Given the description of an element on the screen output the (x, y) to click on. 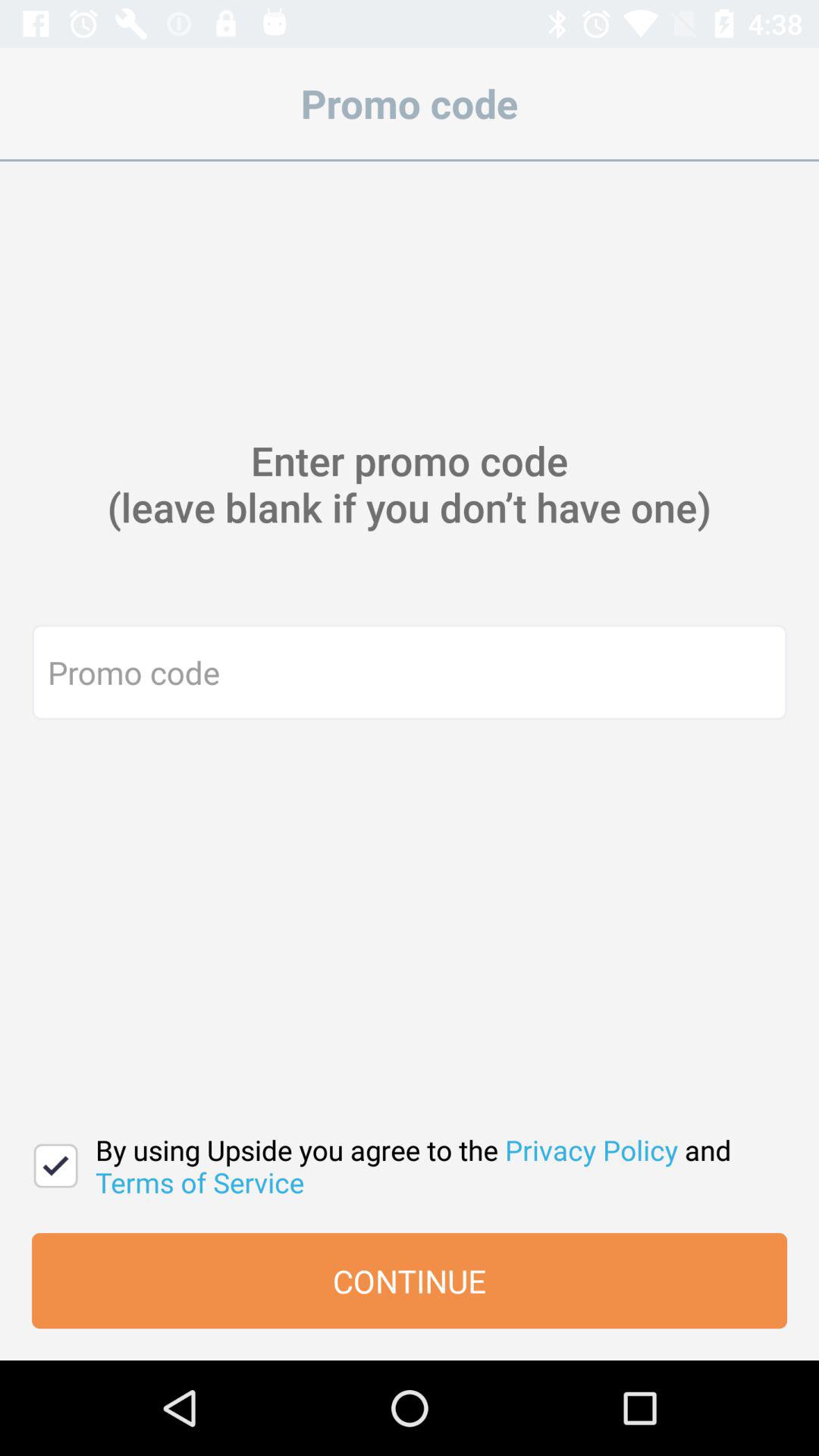
enter promo code (409, 672)
